Given the description of an element on the screen output the (x, y) to click on. 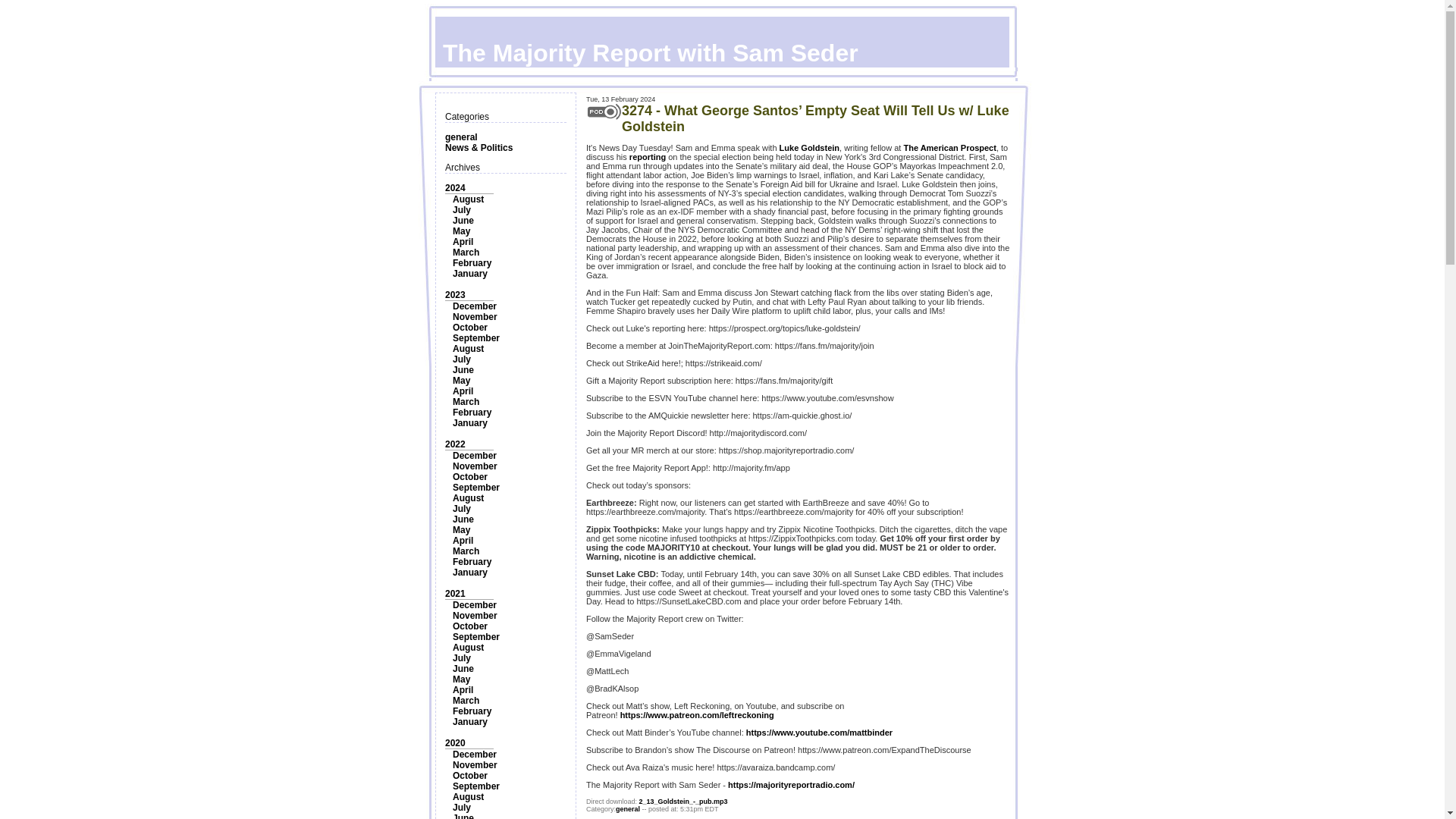
May (461, 380)
July (461, 508)
September (475, 487)
January (469, 422)
2021 (455, 593)
March (465, 252)
2024 (455, 187)
October (469, 476)
March (465, 551)
April (462, 390)
